Given the description of an element on the screen output the (x, y) to click on. 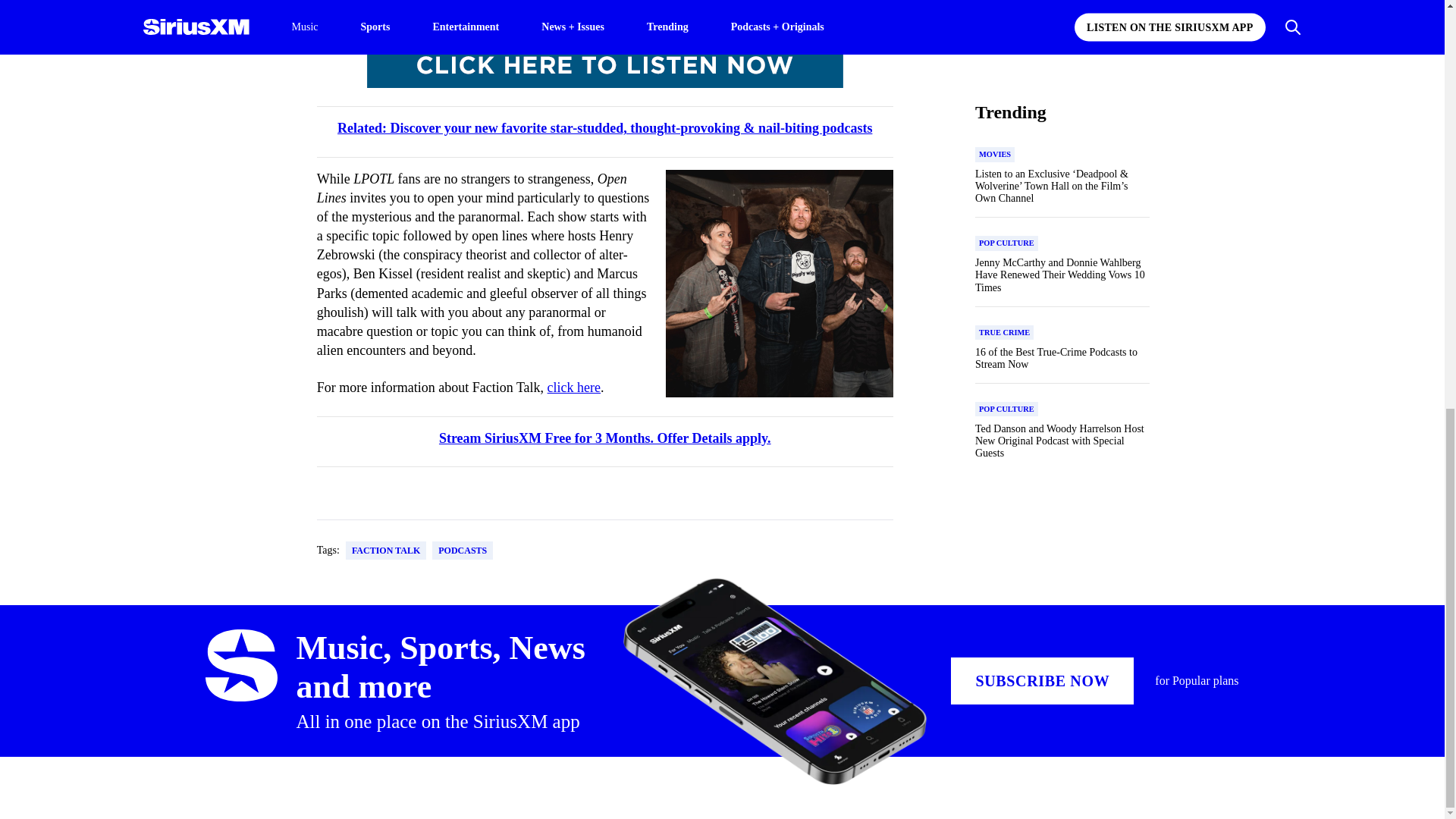
SXM App (632, 11)
Stream SiriusXM Free for 3 Months. Offer Details apply. (605, 437)
PODCASTS (462, 550)
FACTION TALK (386, 550)
click here (573, 387)
